Given the description of an element on the screen output the (x, y) to click on. 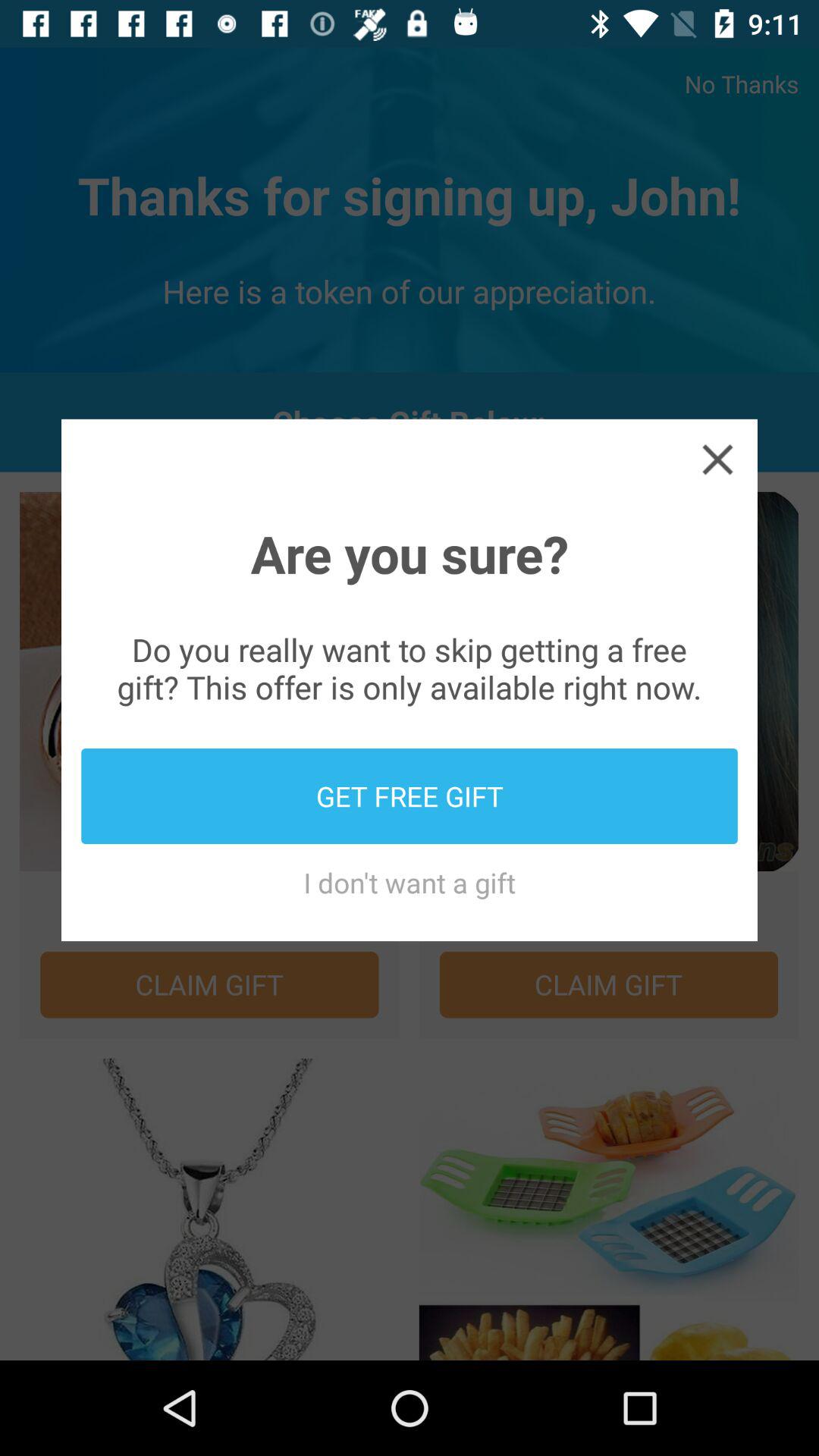
launch item at the top right corner (717, 458)
